Given the description of an element on the screen output the (x, y) to click on. 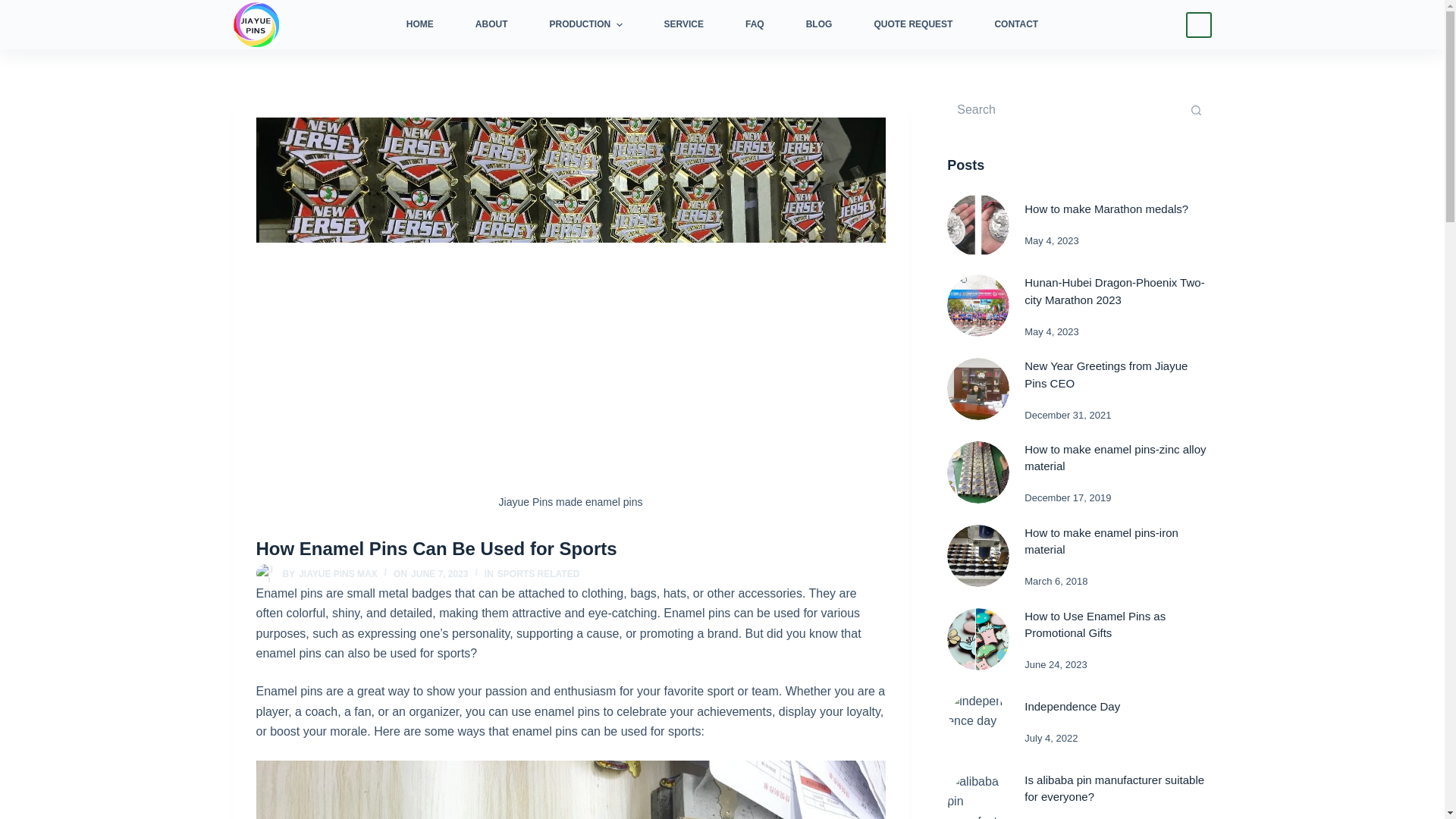
PRODUCTION (585, 24)
QUOTE REQUEST (913, 24)
CONTACT (1006, 24)
BLOG (818, 24)
FAQ (755, 24)
Search for... (1063, 110)
Skip to content (15, 7)
Posts by Jiayue Pins Max (337, 573)
HOME (430, 24)
ABOUT (491, 24)
